Given the description of an element on the screen output the (x, y) to click on. 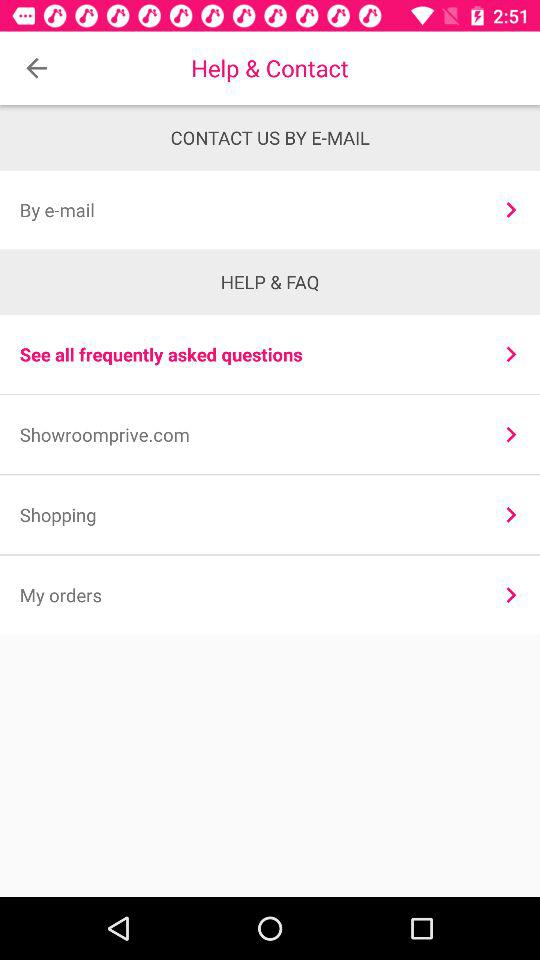
turn on the icon below the see all frequently item (247, 434)
